Given the description of an element on the screen output the (x, y) to click on. 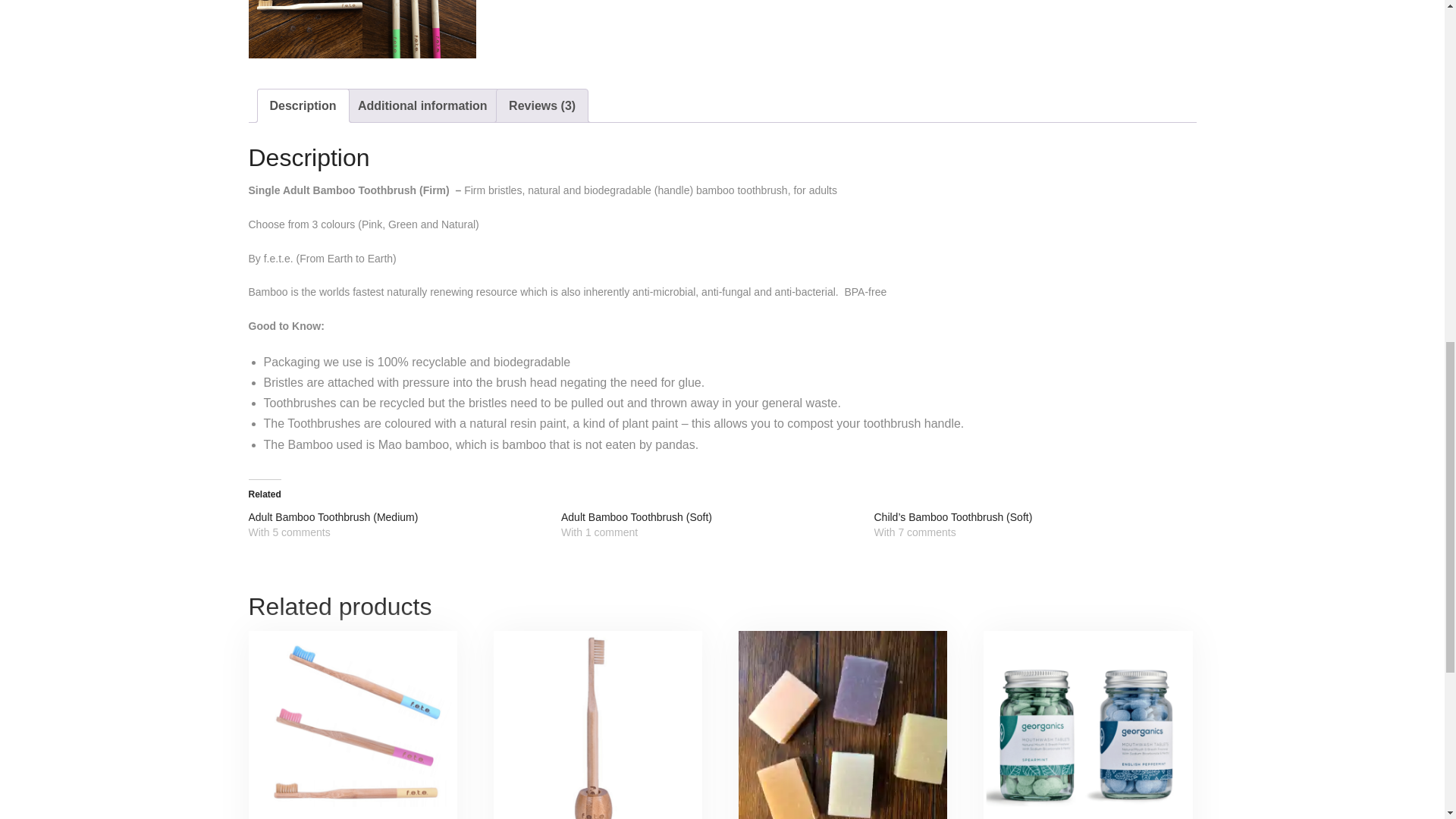
Untitled design - 2019-07-26T174749.604 (419, 29)
Untitled design - 2019-06-14T162922.931 (305, 29)
